Given the description of an element on the screen output the (x, y) to click on. 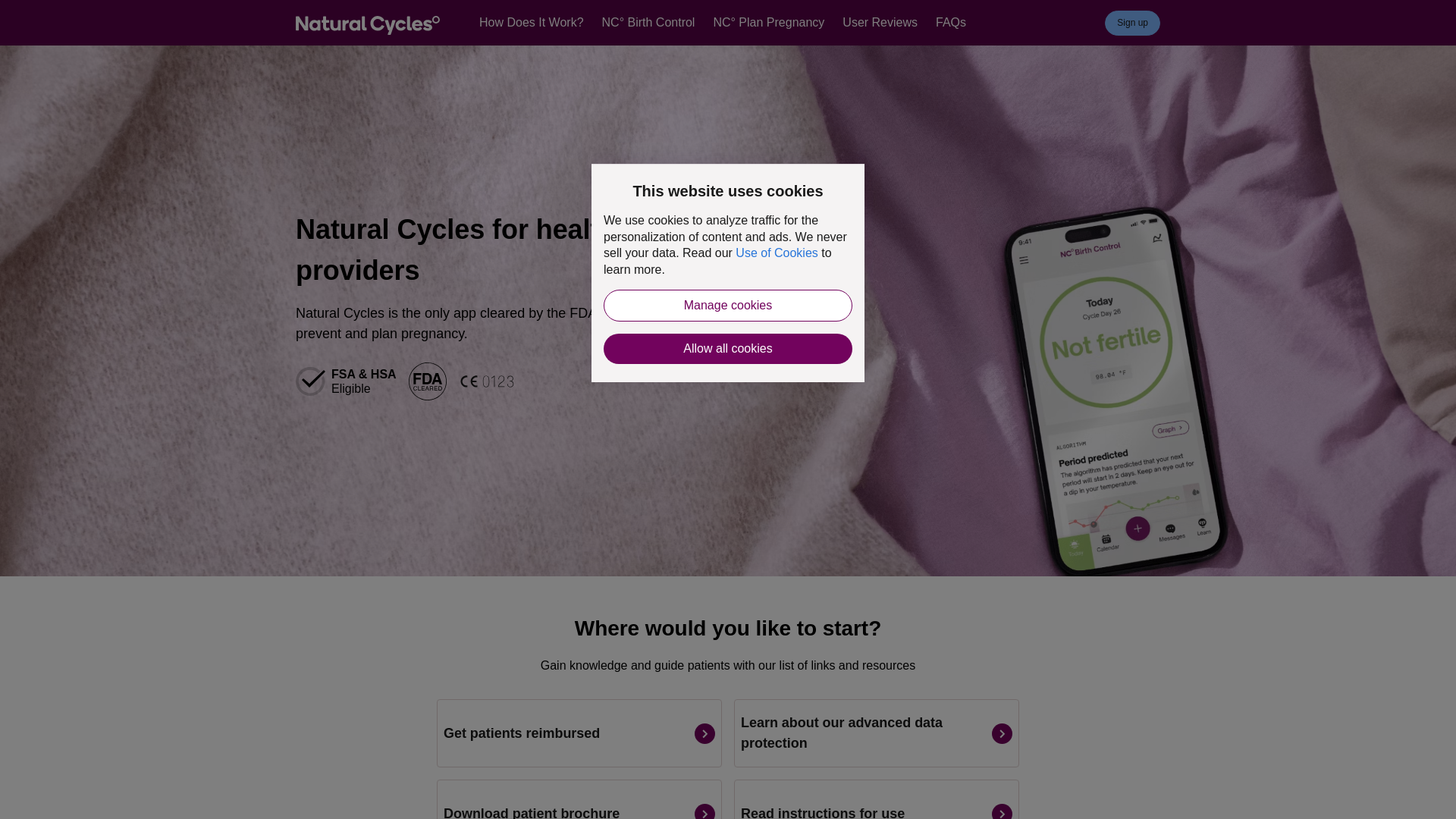
Allow all cookies (727, 348)
Learn about our advanced data protection (876, 733)
Natural Cycles Logo (367, 26)
Read instructions for use (876, 799)
Download patient brochure (579, 799)
Natural Cycles Logo (367, 25)
How Does It Work? (531, 22)
Manage cookies (727, 305)
User Reviews (879, 22)
Get patients reimbursed (579, 733)
FAQs (951, 22)
Use of Cookies (776, 252)
Sign up (1132, 23)
